Given the description of an element on the screen output the (x, y) to click on. 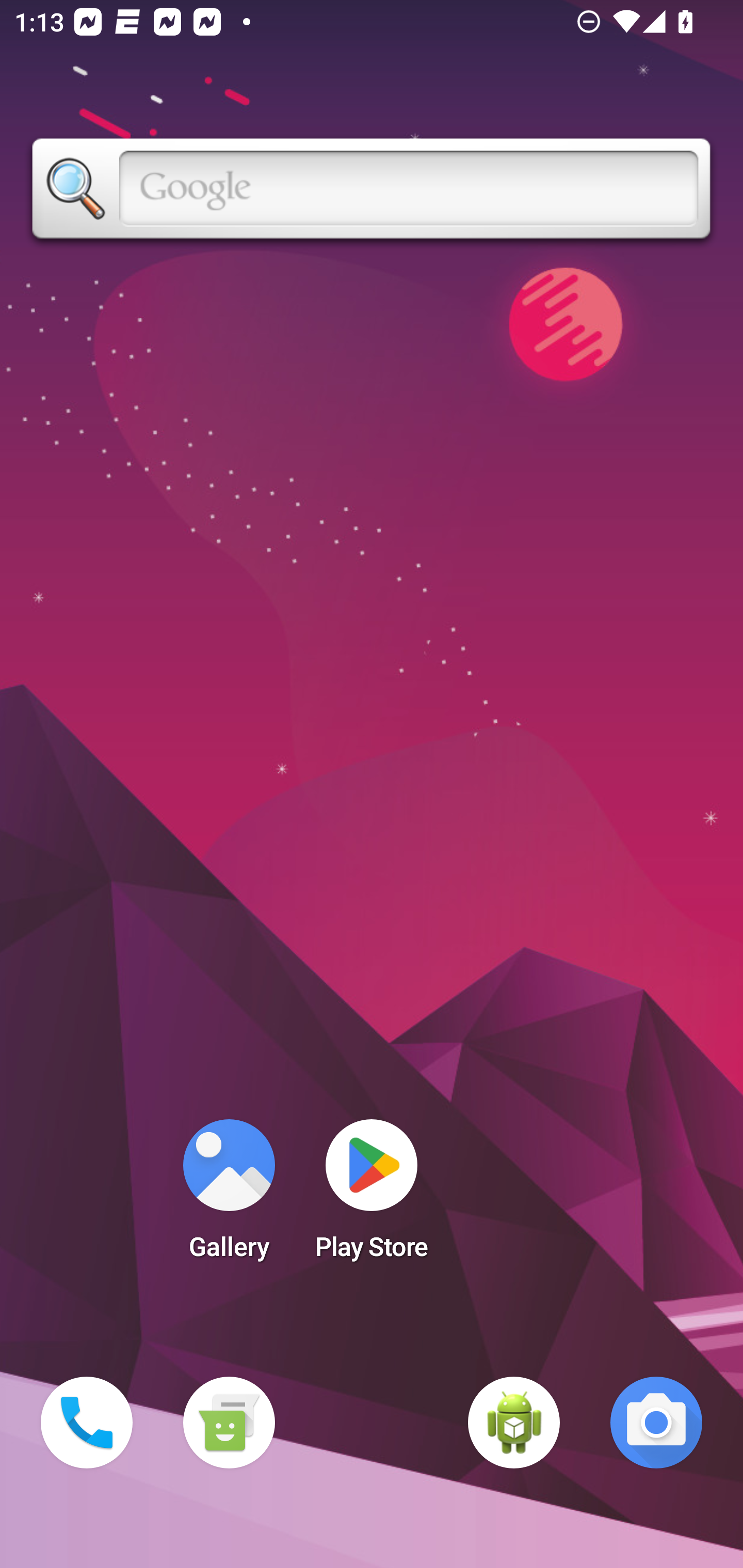
Gallery (228, 1195)
Play Store (371, 1195)
Phone (86, 1422)
Messaging (228, 1422)
WebView Browser Tester (513, 1422)
Camera (656, 1422)
